Given the description of an element on the screen output the (x, y) to click on. 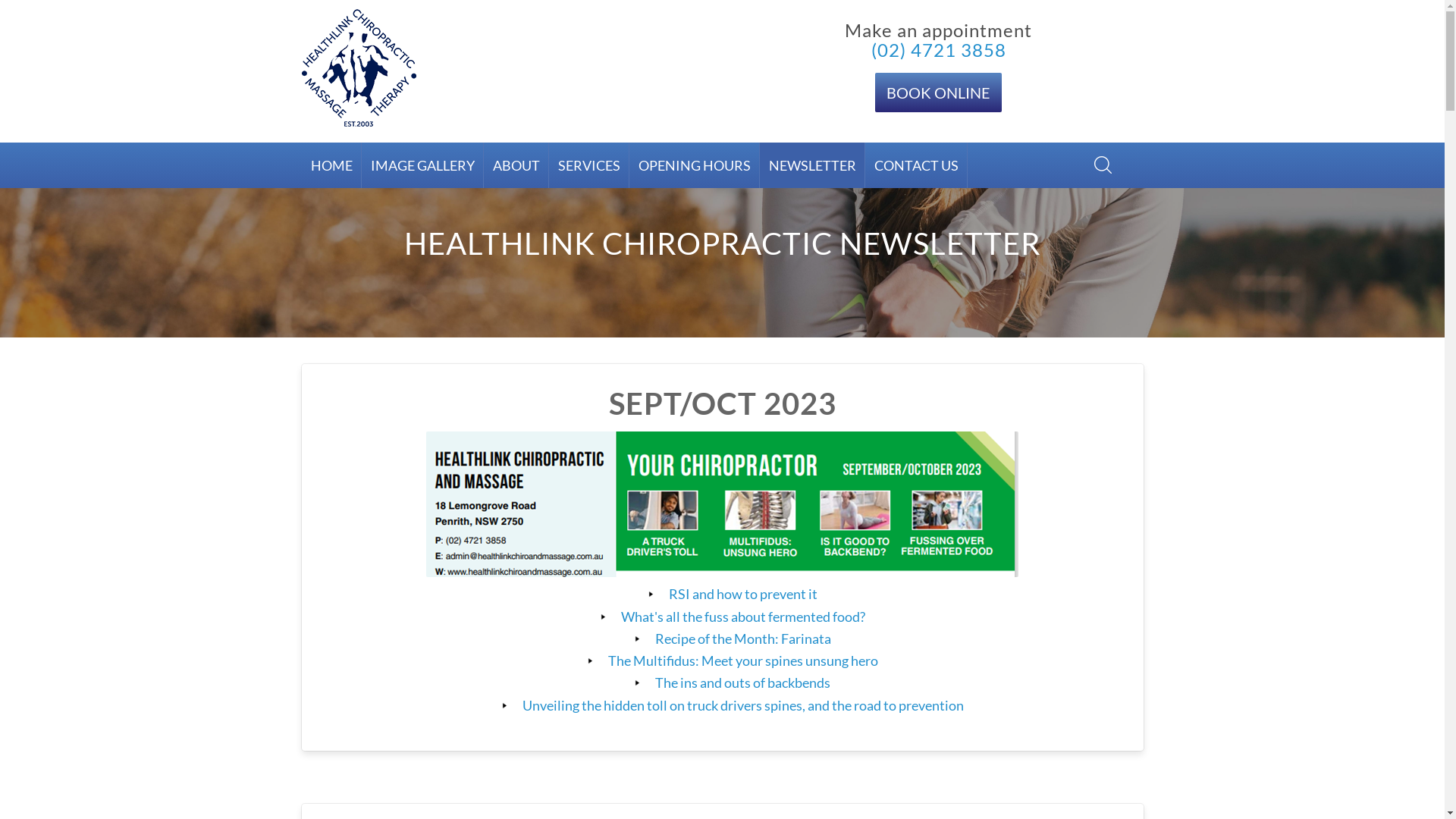
What's all the fuss about fermented food? Element type: text (742, 616)
The Multifidus: Meet your spines unsung hero Element type: text (743, 660)
BOOK ONLINE Element type: text (938, 92)
CONTACT US Element type: text (915, 165)
RSI and how to prevent it Element type: text (742, 593)
HOME Element type: text (331, 165)
IMAGE GALLERY Element type: text (421, 165)
NEWSLETTER Element type: text (812, 165)
(02) 4721 3858 Element type: text (937, 49)
ABOUT Element type: text (516, 165)
Recipe of the Month: Farinata Element type: text (743, 638)
The ins and outs of backbends Element type: text (742, 682)
SERVICES Element type: text (589, 165)
OPENING HOURS Element type: text (694, 165)
